Given the description of an element on the screen output the (x, y) to click on. 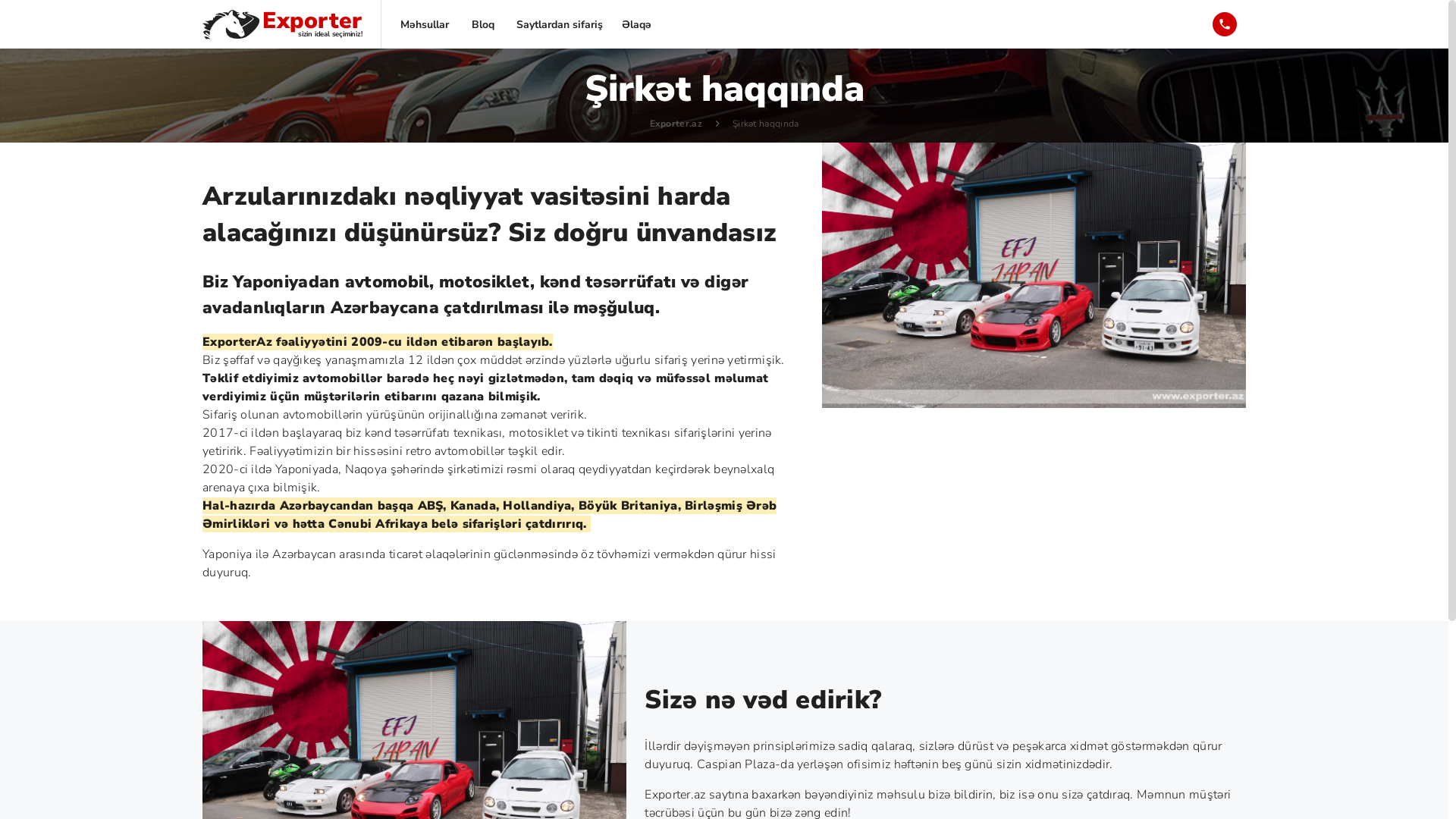
Bloq Element type: text (482, 24)
(+994 50) 325-33-42 Element type: hover (1224, 24)
Exporter.az Element type: text (675, 123)
